Given the description of an element on the screen output the (x, y) to click on. 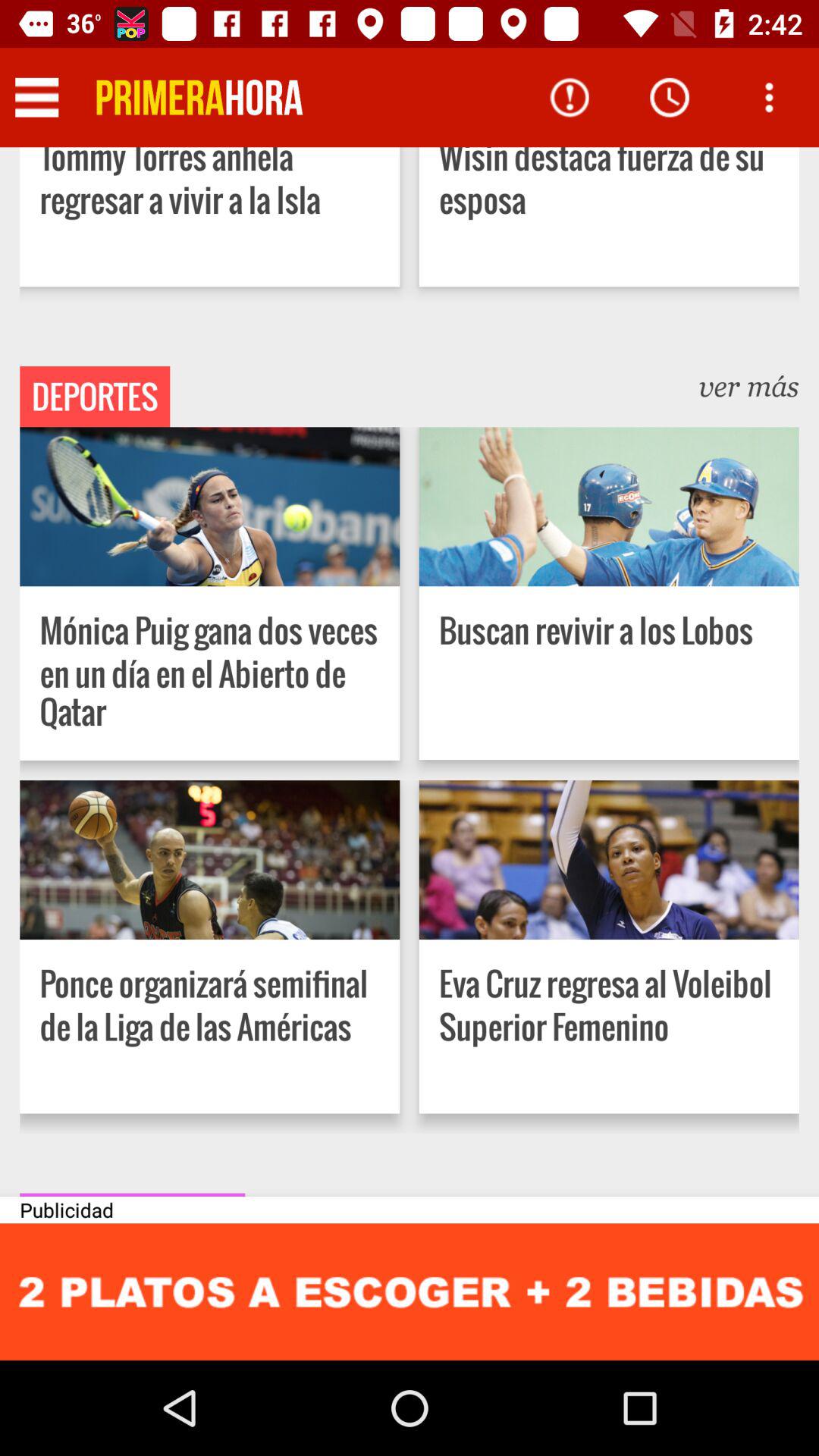
open menu (769, 97)
